Given the description of an element on the screen output the (x, y) to click on. 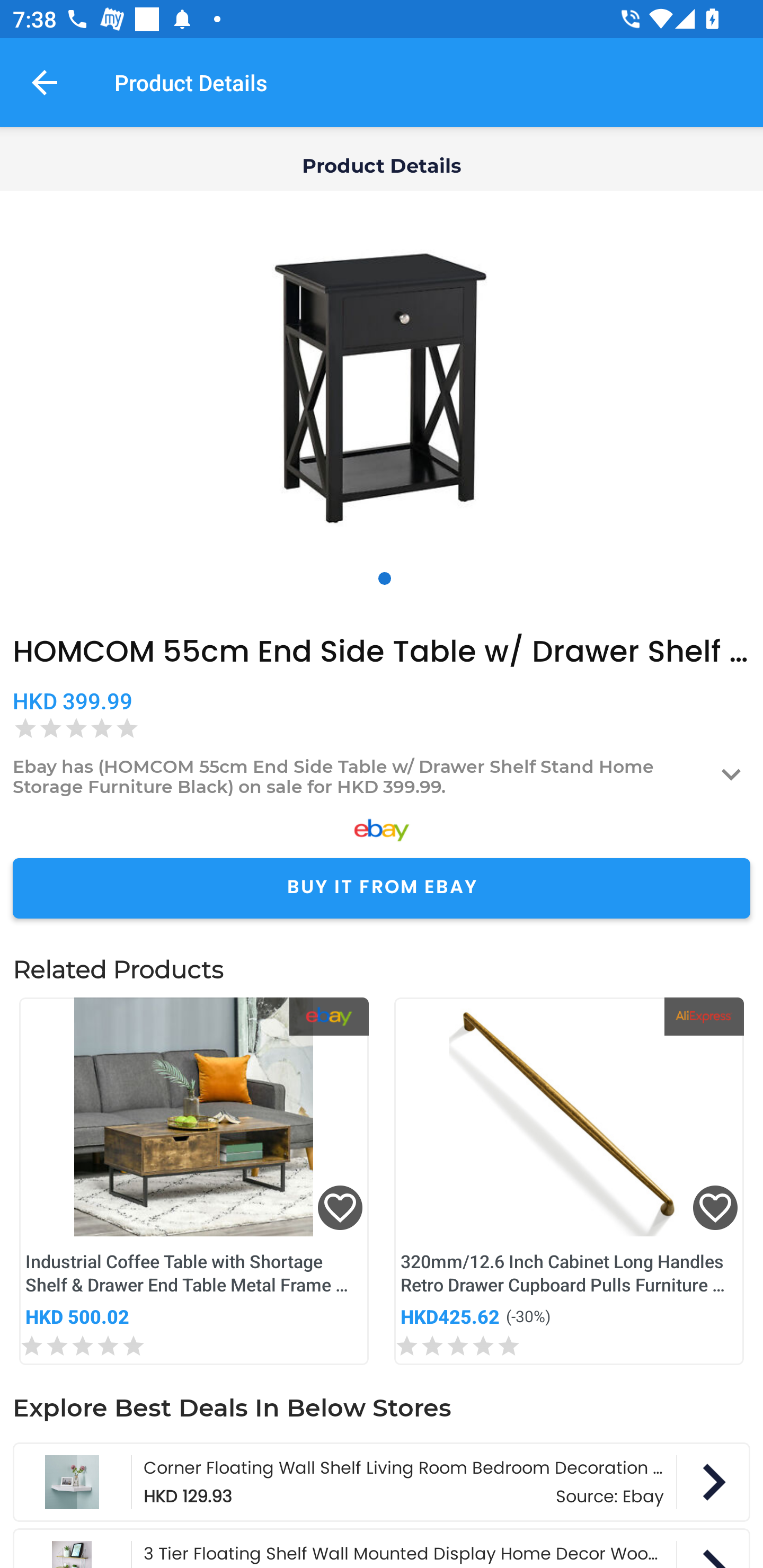
Navigate up (44, 82)
BUY IT FROM EBAY (381, 888)
